Given the description of an element on the screen output the (x, y) to click on. 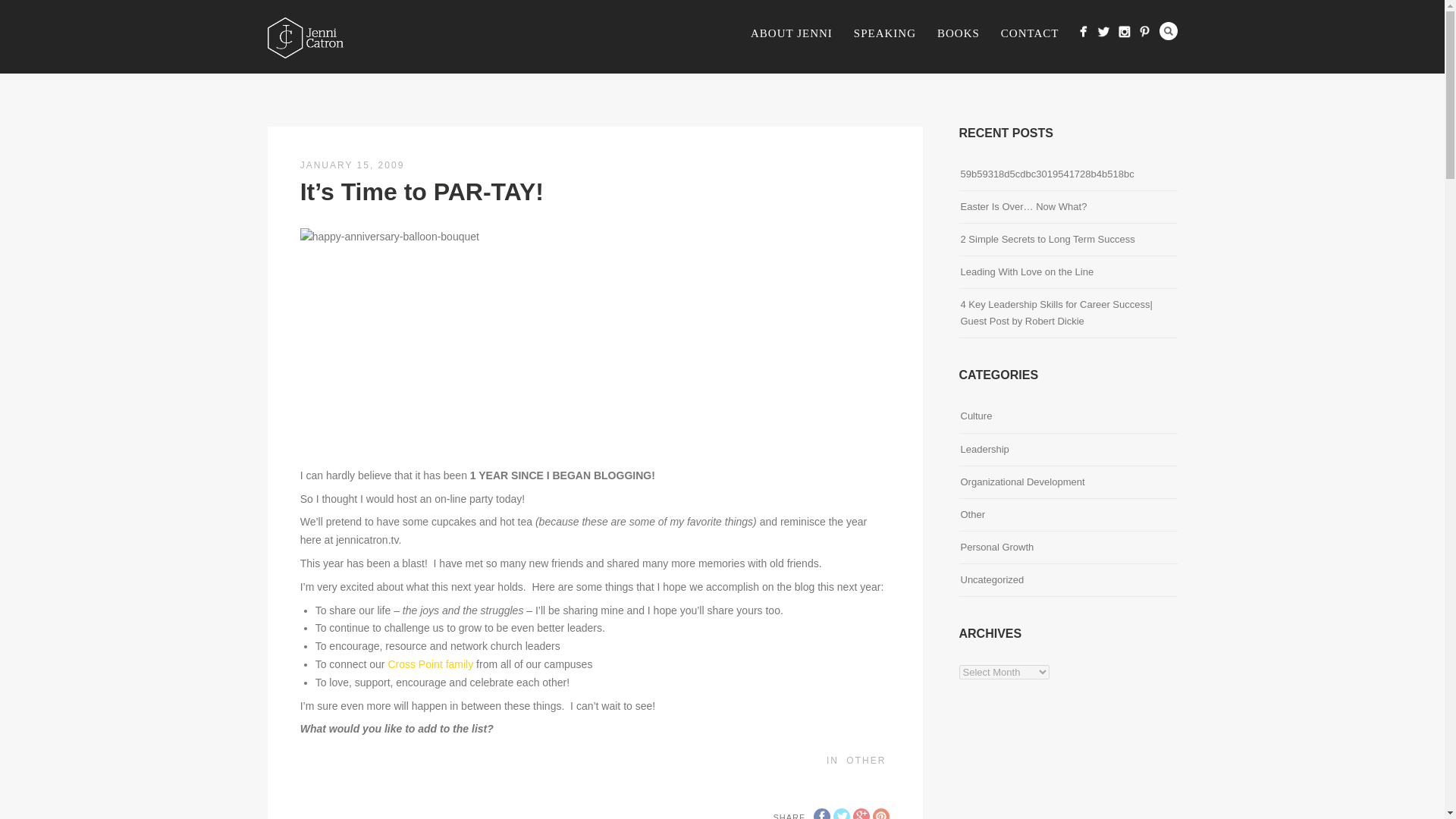
2 Simple Secrets to Long Term Success (1046, 239)
Cross Point family (430, 664)
happy-anniversary-balloon-bouquet (413, 341)
OTHER (865, 760)
SPEAKING (884, 33)
Pinterest (880, 813)
Leading With Love on the Line (1026, 271)
BOOKS (958, 33)
ABOUT JENNI (791, 33)
CONTACT (1030, 33)
Facebook (821, 813)
Twitter (841, 813)
59b59318d5cdbc3019541728b4b518bc (1046, 173)
Search (1167, 31)
